Given the description of an element on the screen output the (x, y) to click on. 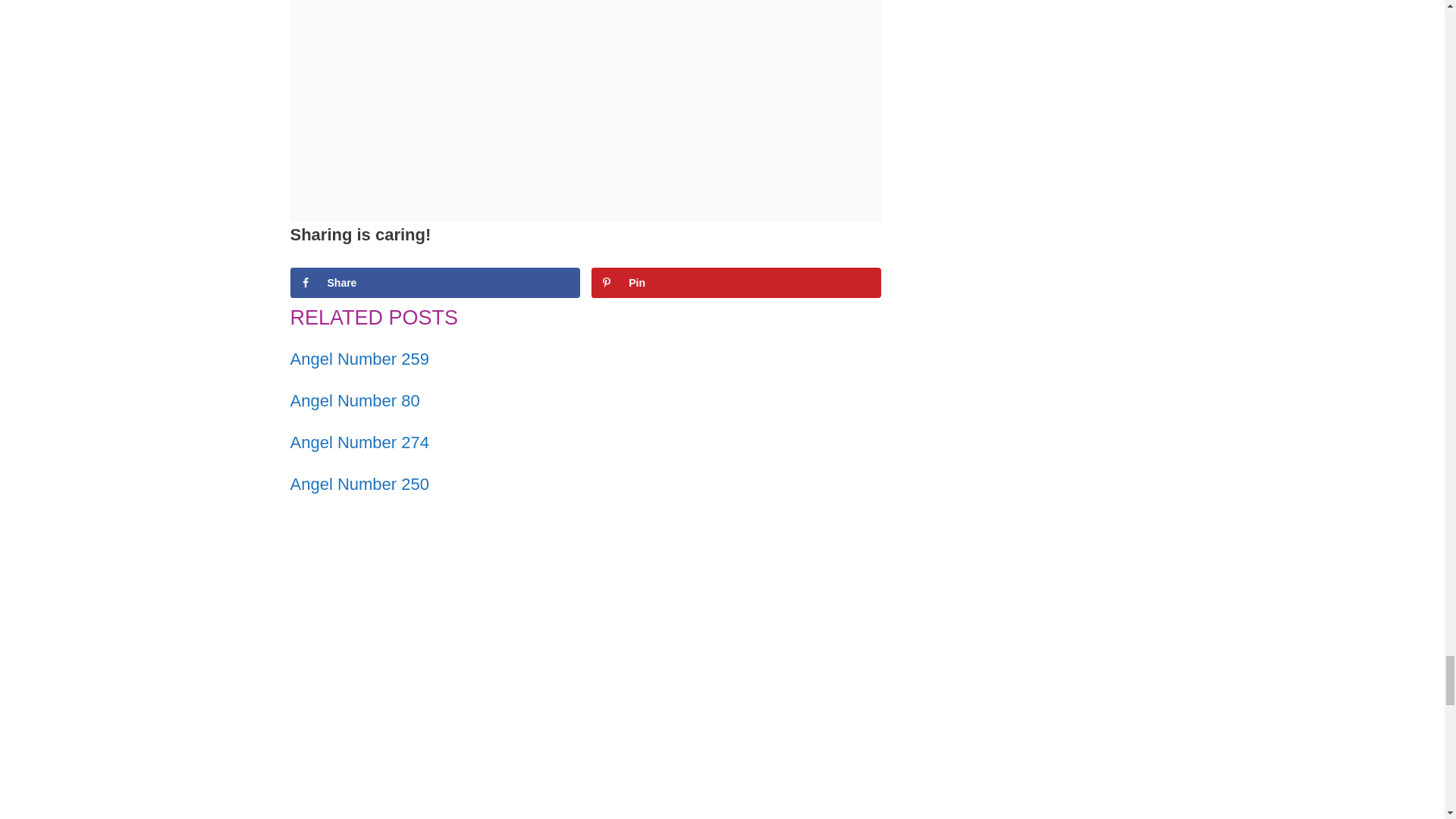
Share on Facebook (434, 282)
Save to Pinterest (735, 282)
